Given the description of an element on the screen output the (x, y) to click on. 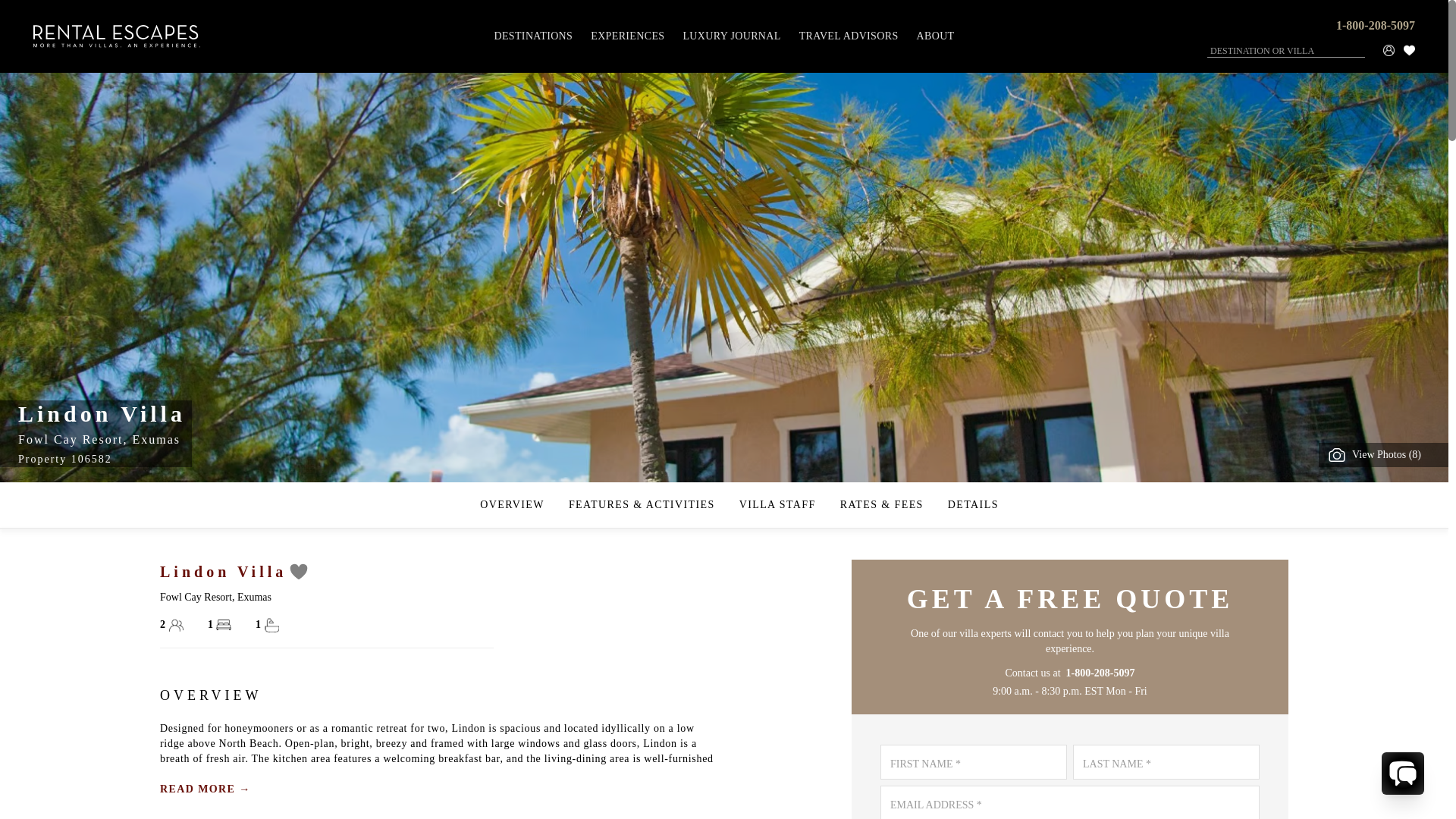
ABOUT (935, 35)
LUXURY JOURNAL (730, 35)
Exumas (253, 596)
Fowl Cay Resort (69, 439)
EXPERIENCES (626, 35)
DESTINATIONS (532, 35)
Exumas (156, 439)
Fowl Cay Resort (195, 596)
TRAVEL ADVISORS (848, 35)
